Given the description of an element on the screen output the (x, y) to click on. 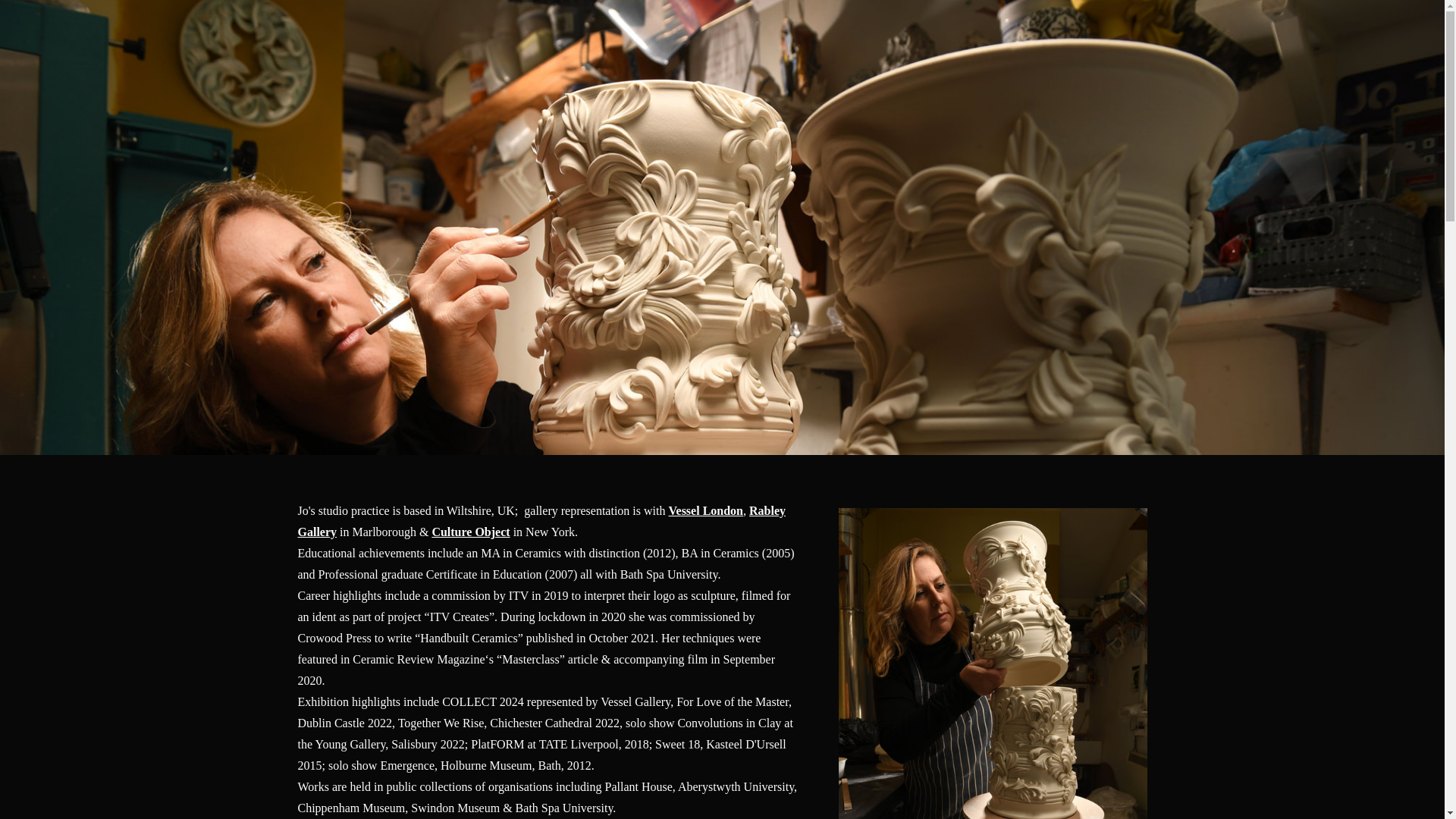
Rabley Gallery (541, 521)
Vessel London (705, 510)
Culture Object (469, 531)
